Given the description of an element on the screen output the (x, y) to click on. 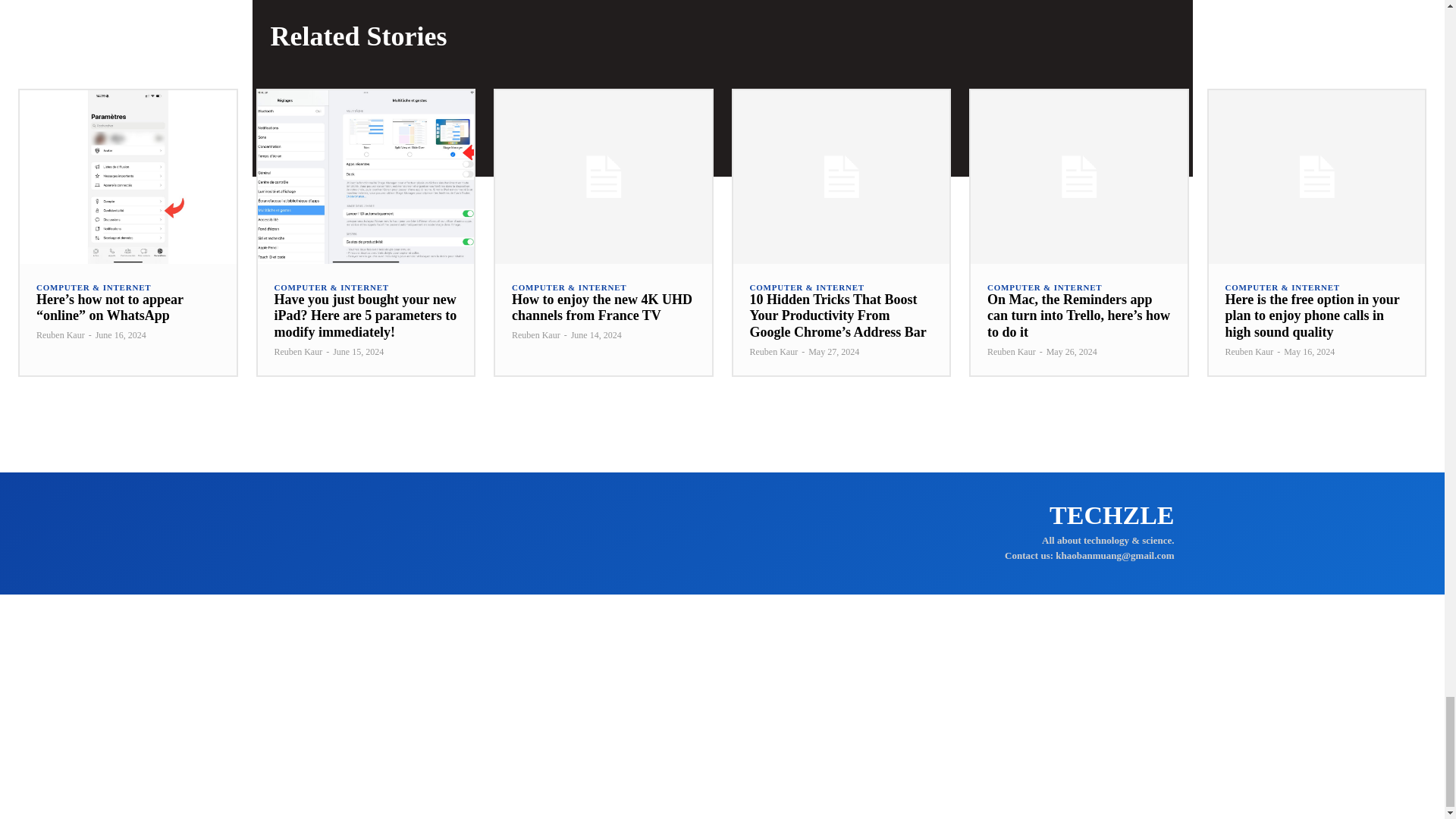
How to enjoy the new 4K UHD channels from France TV (602, 307)
How to enjoy the new 4K UHD channels from France TV (603, 176)
